Given the description of an element on the screen output the (x, y) to click on. 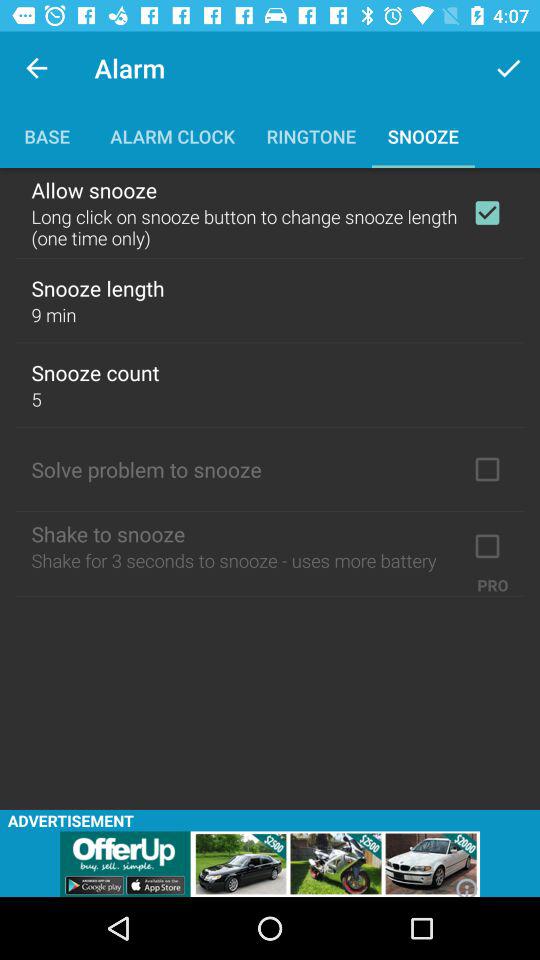
turn on shake to snooze (487, 546)
